Given the description of an element on the screen output the (x, y) to click on. 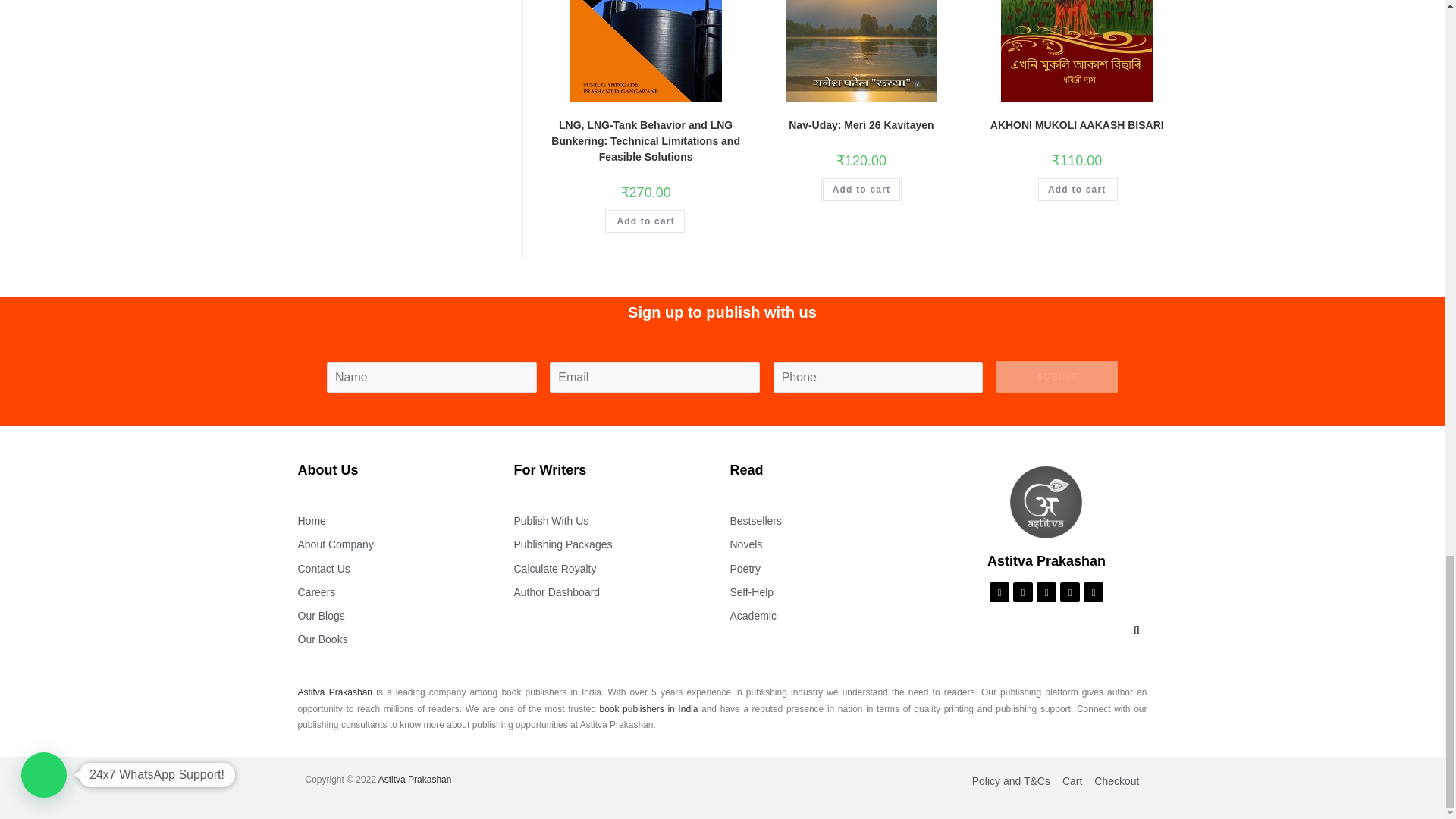
Search (1131, 632)
Astitva Prakashan (1046, 501)
